Given the description of an element on the screen output the (x, y) to click on. 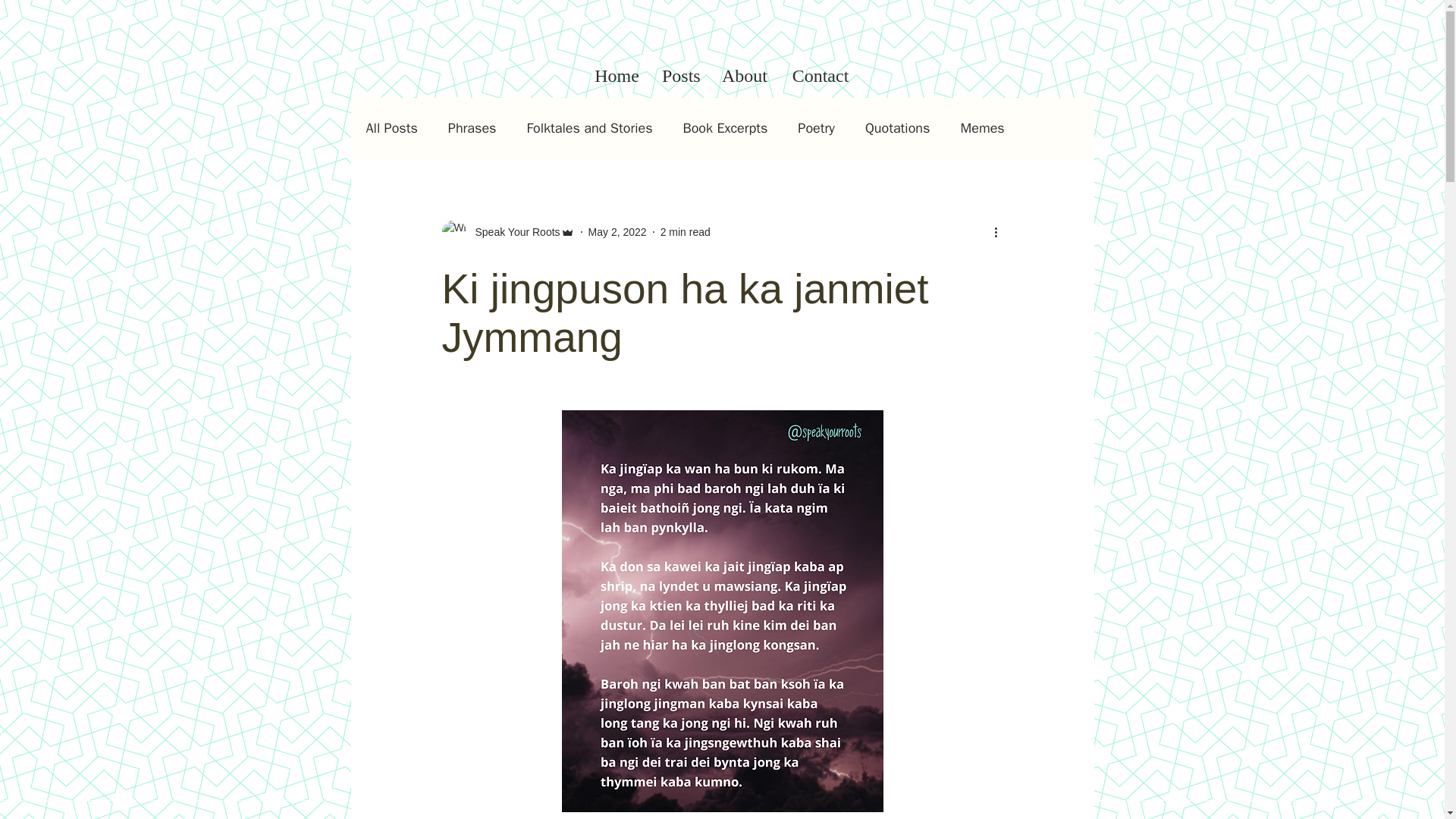
About (744, 74)
Folktales and Stories (588, 127)
Poetry (815, 127)
Memes (981, 127)
All Posts (390, 127)
Book Excerpts (725, 127)
Phrases (472, 127)
Home (616, 74)
May 2, 2022 (617, 232)
Quotations (897, 127)
